Given the description of an element on the screen output the (x, y) to click on. 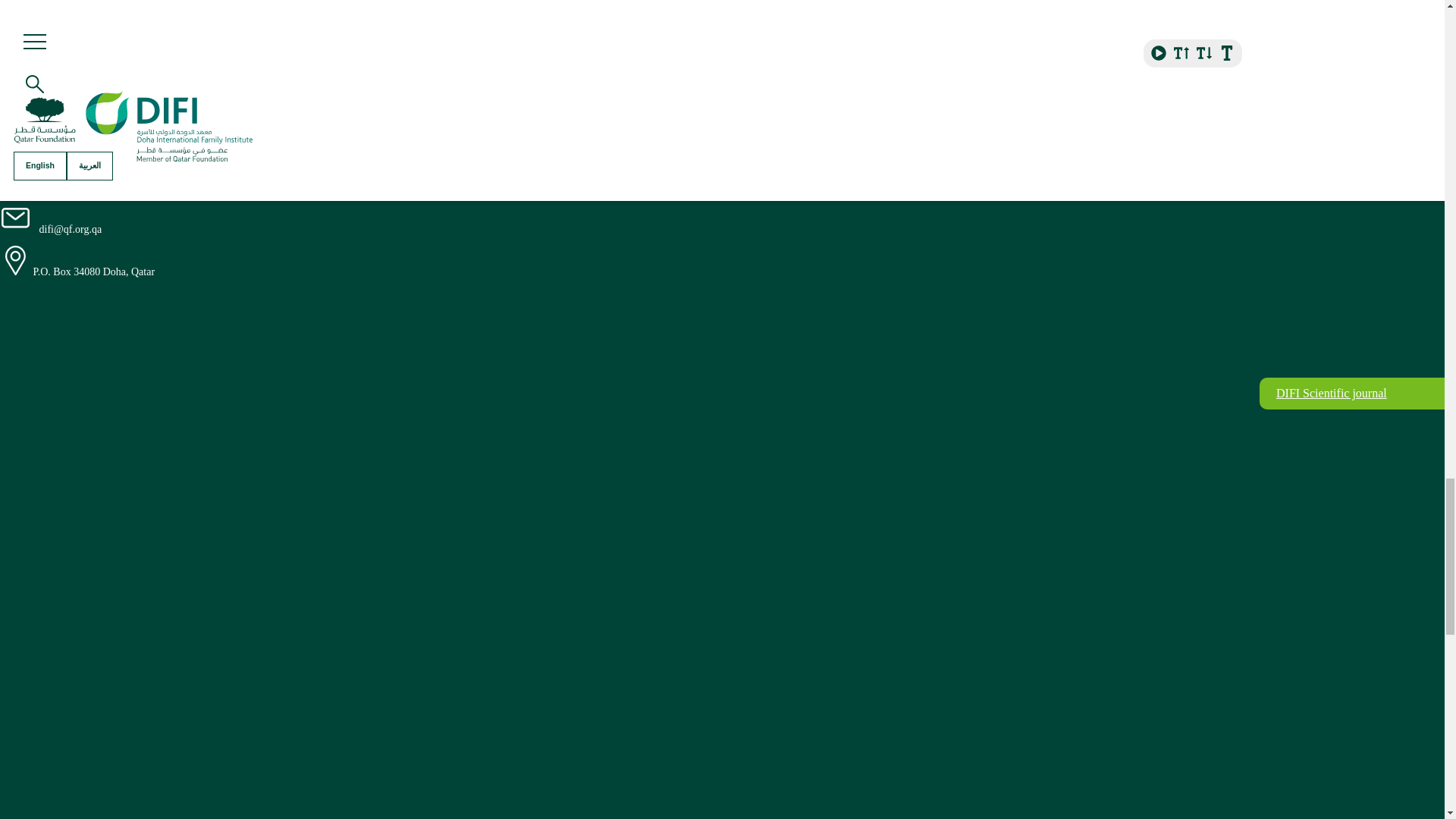
Submit (91, 78)
